Given the description of an element on the screen output the (x, y) to click on. 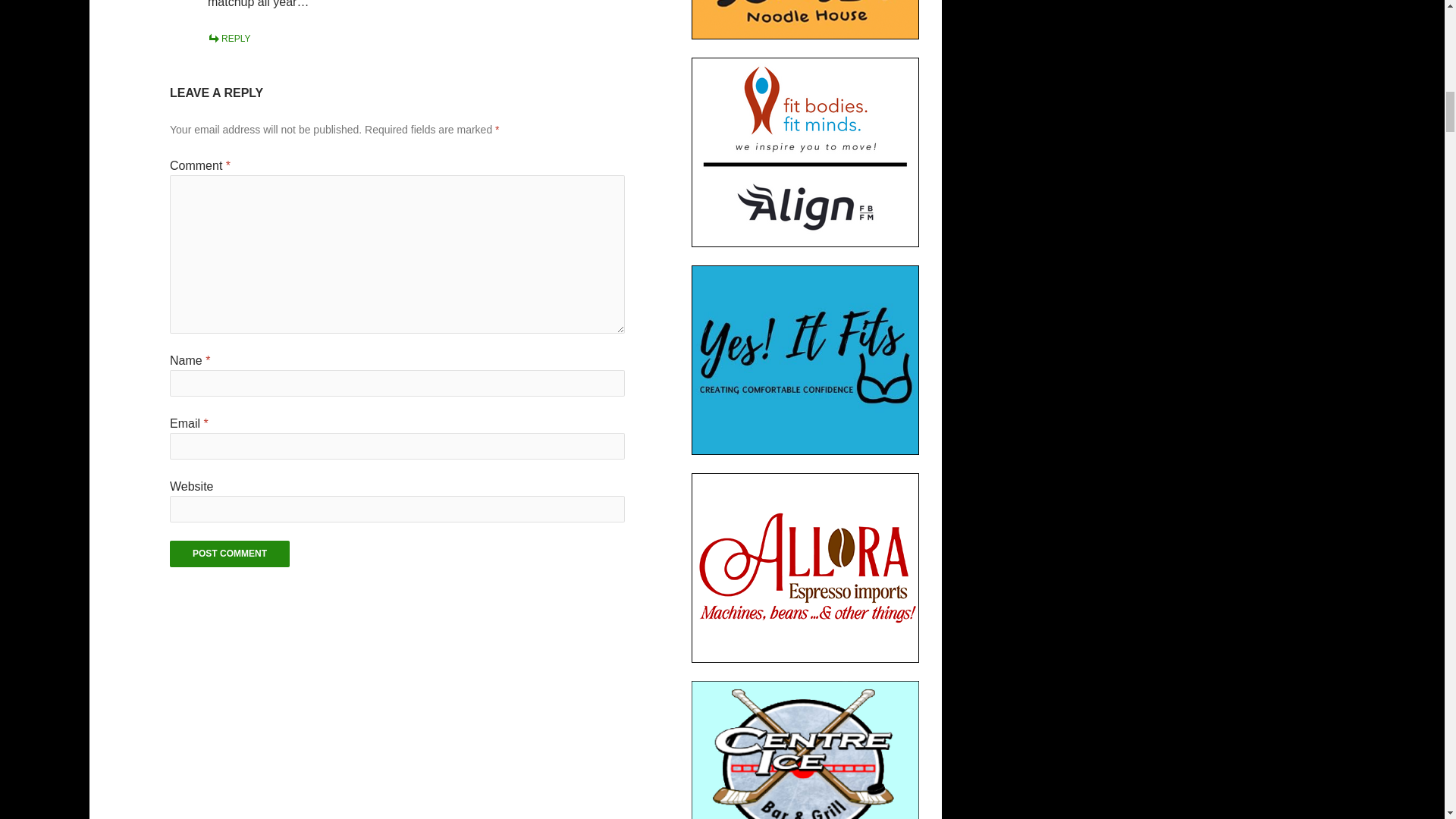
Post Comment (229, 553)
